Given the description of an element on the screen output the (x, y) to click on. 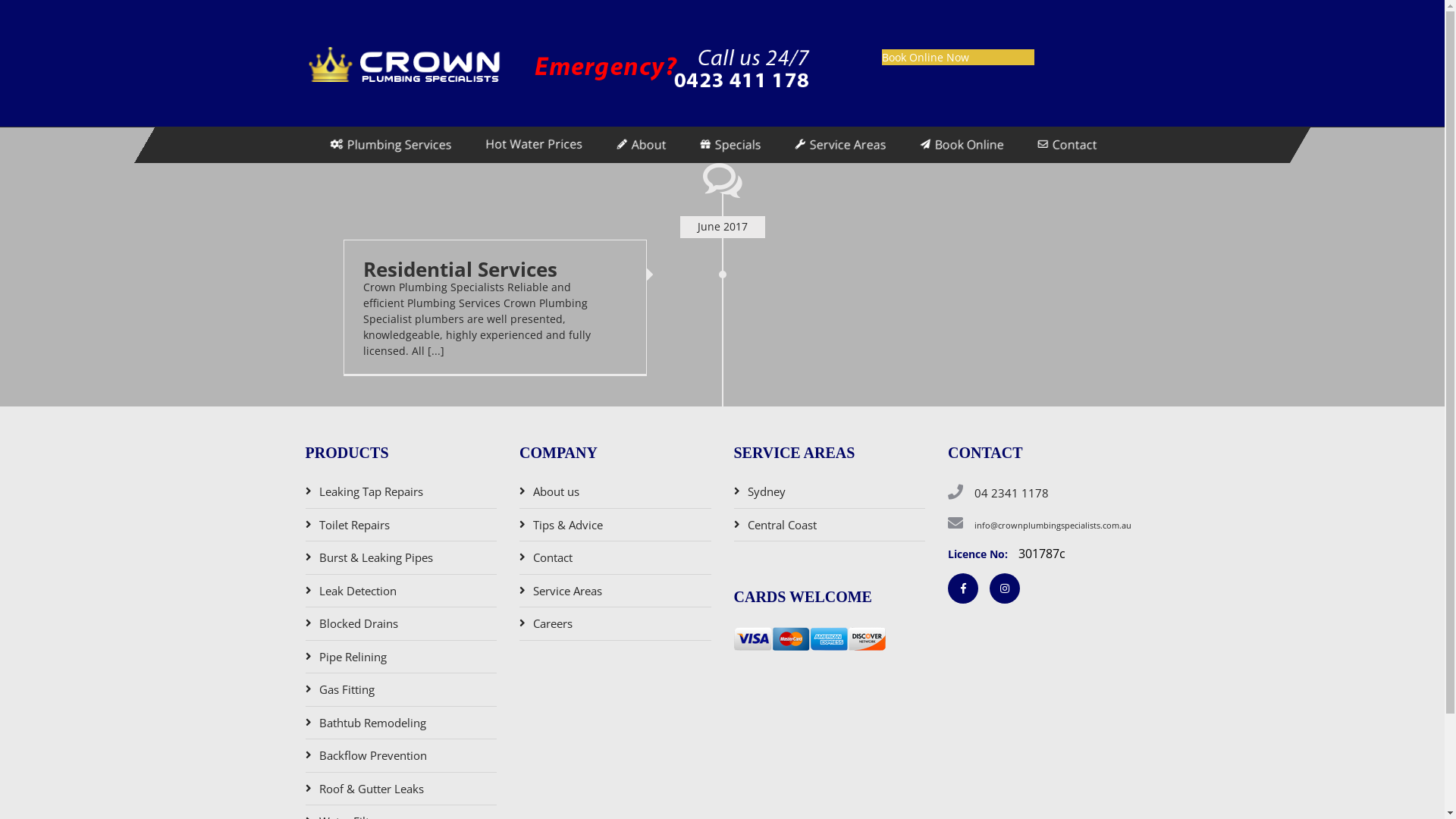
Gas Fitting Element type: text (345, 689)
Leak Detection Element type: text (356, 590)
Hot Water Prices Element type: text (533, 144)
Pipe Relining Element type: text (351, 656)
Contact Element type: text (1066, 144)
Backflow Prevention Element type: text (372, 755)
Service Areas Element type: text (840, 144)
Bathtub Remodeling Element type: text (371, 722)
Tips & Advice Element type: text (567, 524)
301787c Element type: text (1041, 553)
04 2341 1178 Element type: text (1011, 492)
About Element type: text (640, 144)
Specials Element type: text (730, 144)
Burst & Leaking Pipes Element type: text (375, 557)
Book Online Now Element type: text (958, 57)
Sydney Element type: text (766, 491)
Book Online Element type: text (961, 144)
About us Element type: text (556, 491)
Residential Services Element type: text (459, 268)
Central Coast Element type: text (781, 524)
Careers Element type: text (552, 623)
Service Areas Element type: text (567, 590)
Leaking Tap Repairs Element type: text (370, 491)
Roof & Gutter Leaks Element type: text (370, 788)
Blocked Drains Element type: text (357, 623)
Toilet Repairs Element type: text (353, 524)
info@crownplumbingspecialists.com.au Element type: text (1052, 524)
Contact Element type: text (552, 557)
Plumbing Services Element type: text (390, 144)
